Given the description of an element on the screen output the (x, y) to click on. 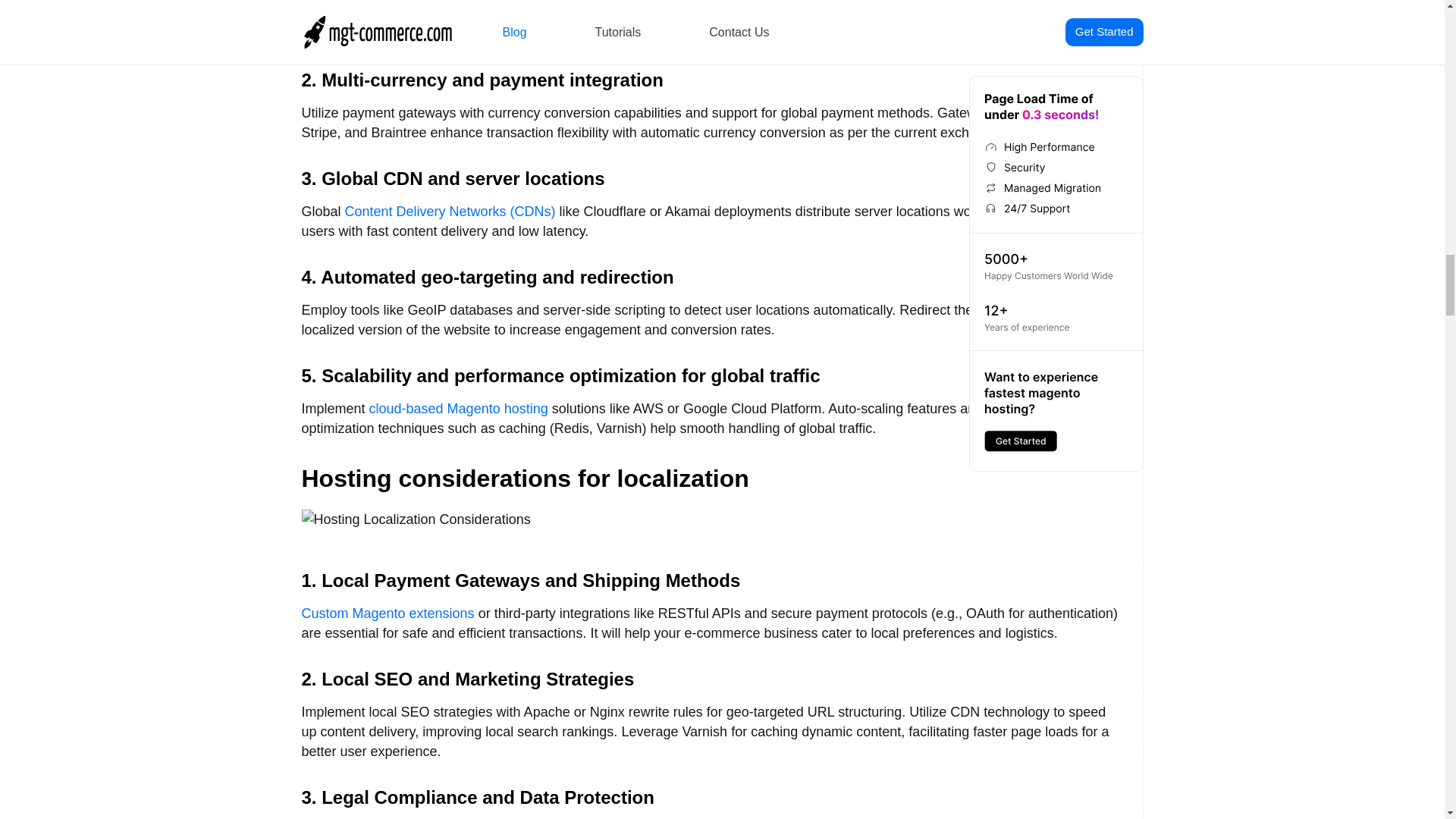
cloud-based Magento hosting (458, 408)
Magento Language Packages (778, 14)
Inline Translator (947, 14)
Considerations for Localizing Magento Hosting (416, 519)
